Given the description of an element on the screen output the (x, y) to click on. 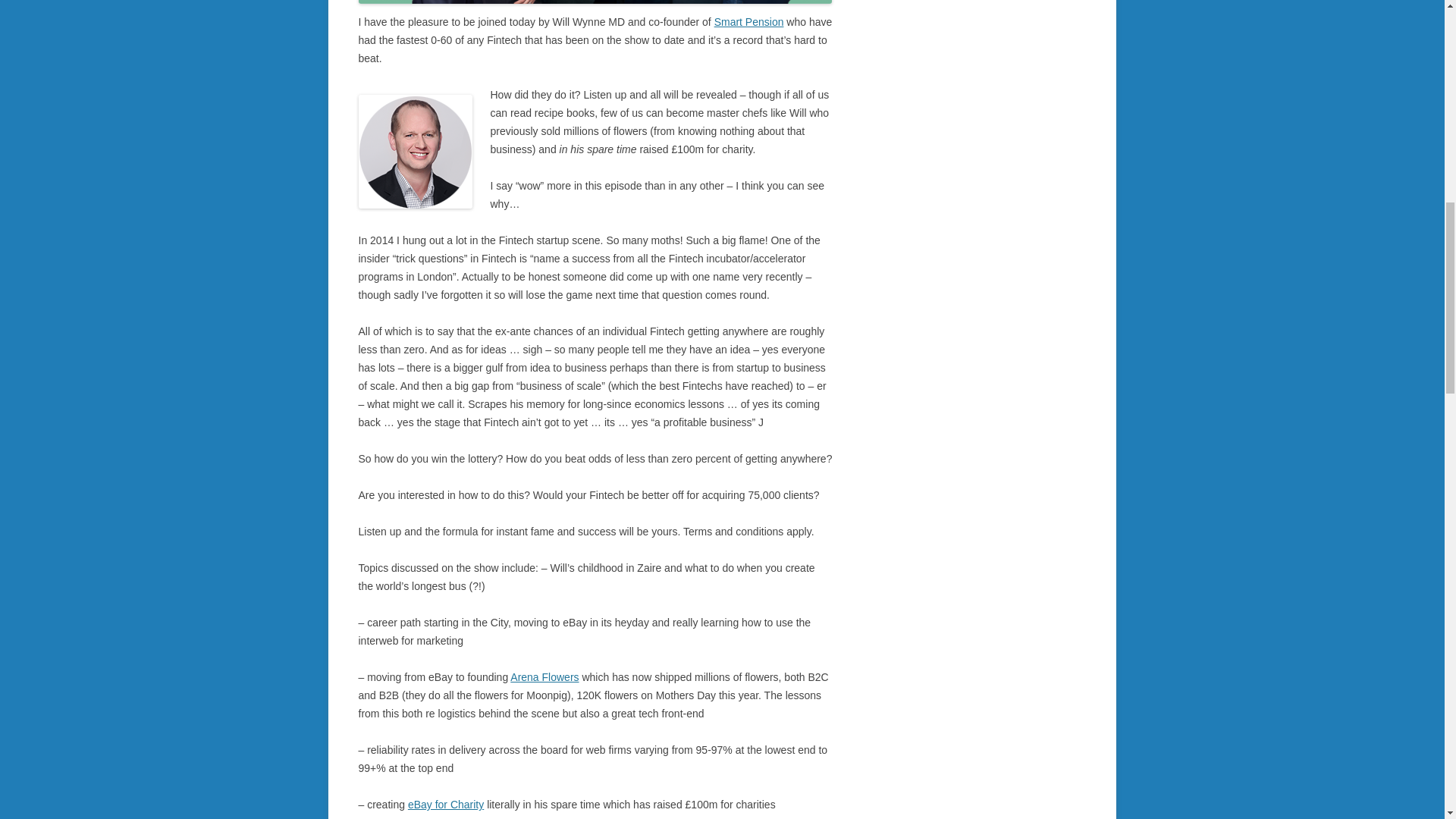
Smart Pension (749, 21)
Arena Flowers (544, 676)
eBay for Charity (445, 804)
